Given the description of an element on the screen output the (x, y) to click on. 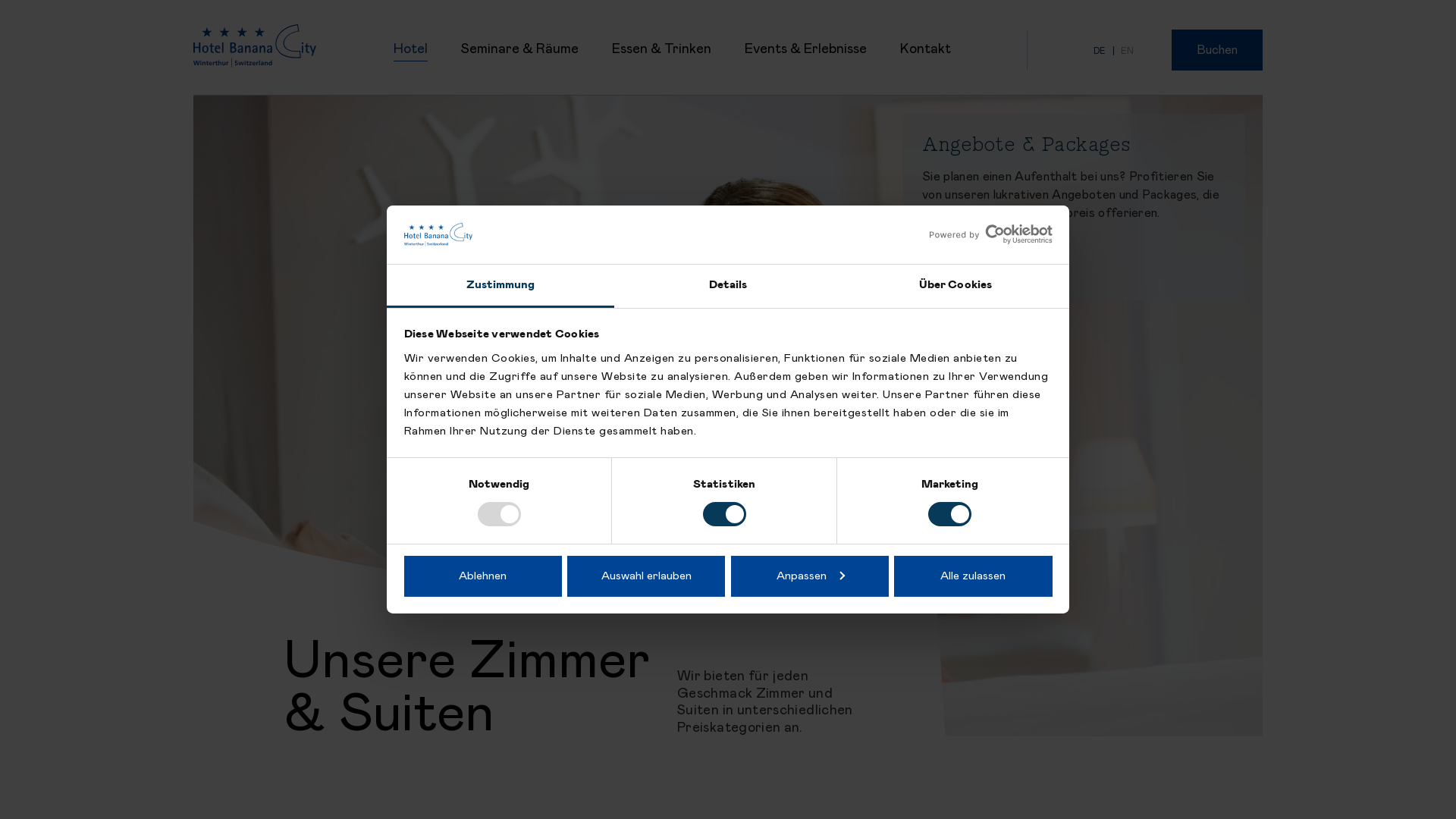
Ablehnen Element type: text (482, 575)
Alle zulassen Element type: text (972, 575)
DE Element type: text (1099, 50)
Auswahl erlauben Element type: text (645, 575)
BANANA CITY Element type: hover (254, 59)
Unser Angebot Element type: text (989, 260)
Details Element type: text (727, 285)
EN Element type: text (1127, 50)
Anpassen Element type: text (809, 575)
Zustimmung Element type: text (500, 285)
Kontakt Element type: text (919, 66)
Buchen Element type: text (1216, 49)
